Given the description of an element on the screen output the (x, y) to click on. 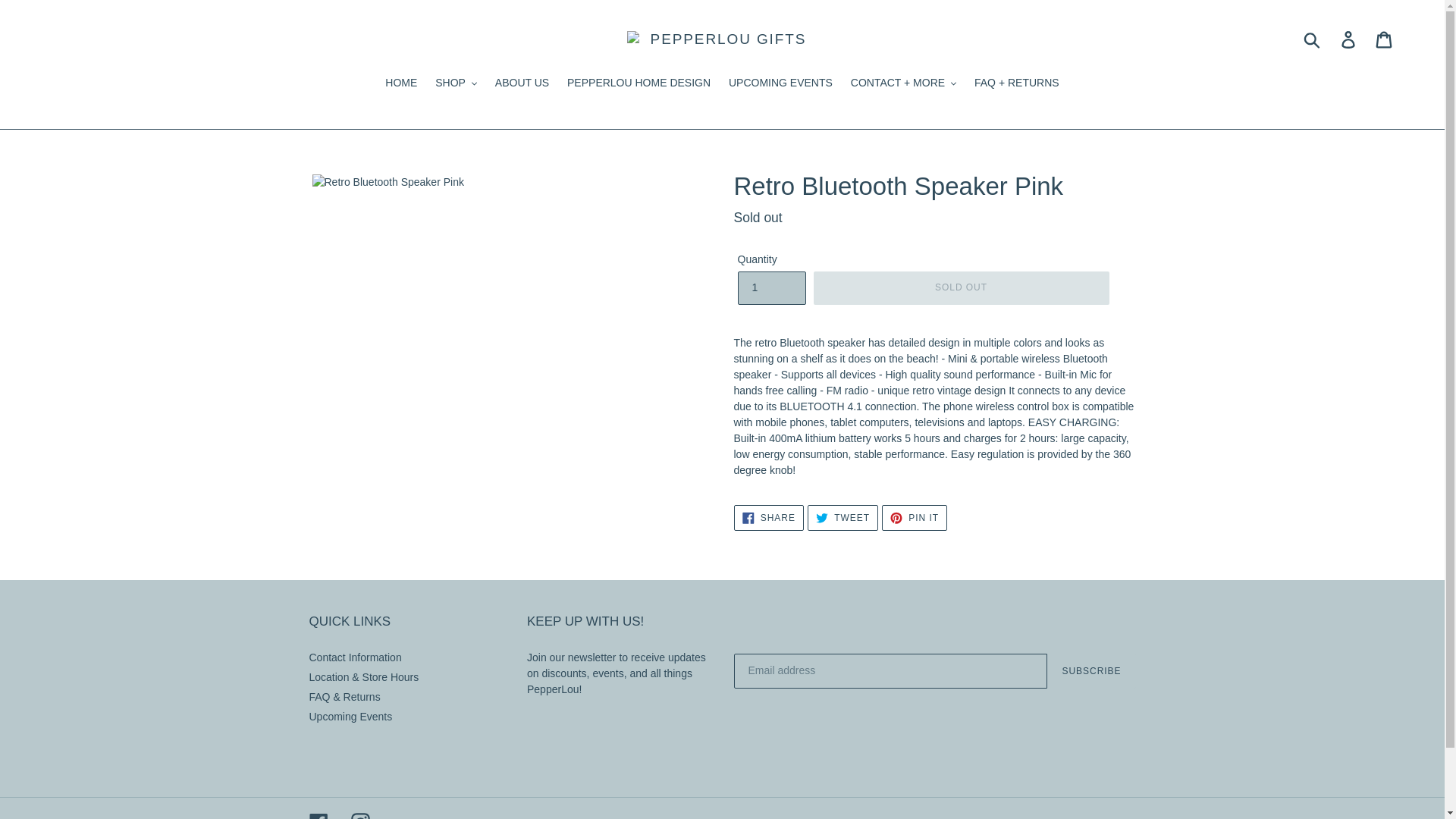
1 (770, 287)
Cart (1385, 38)
Submit (1313, 39)
Log in (1349, 38)
